Given the description of an element on the screen output the (x, y) to click on. 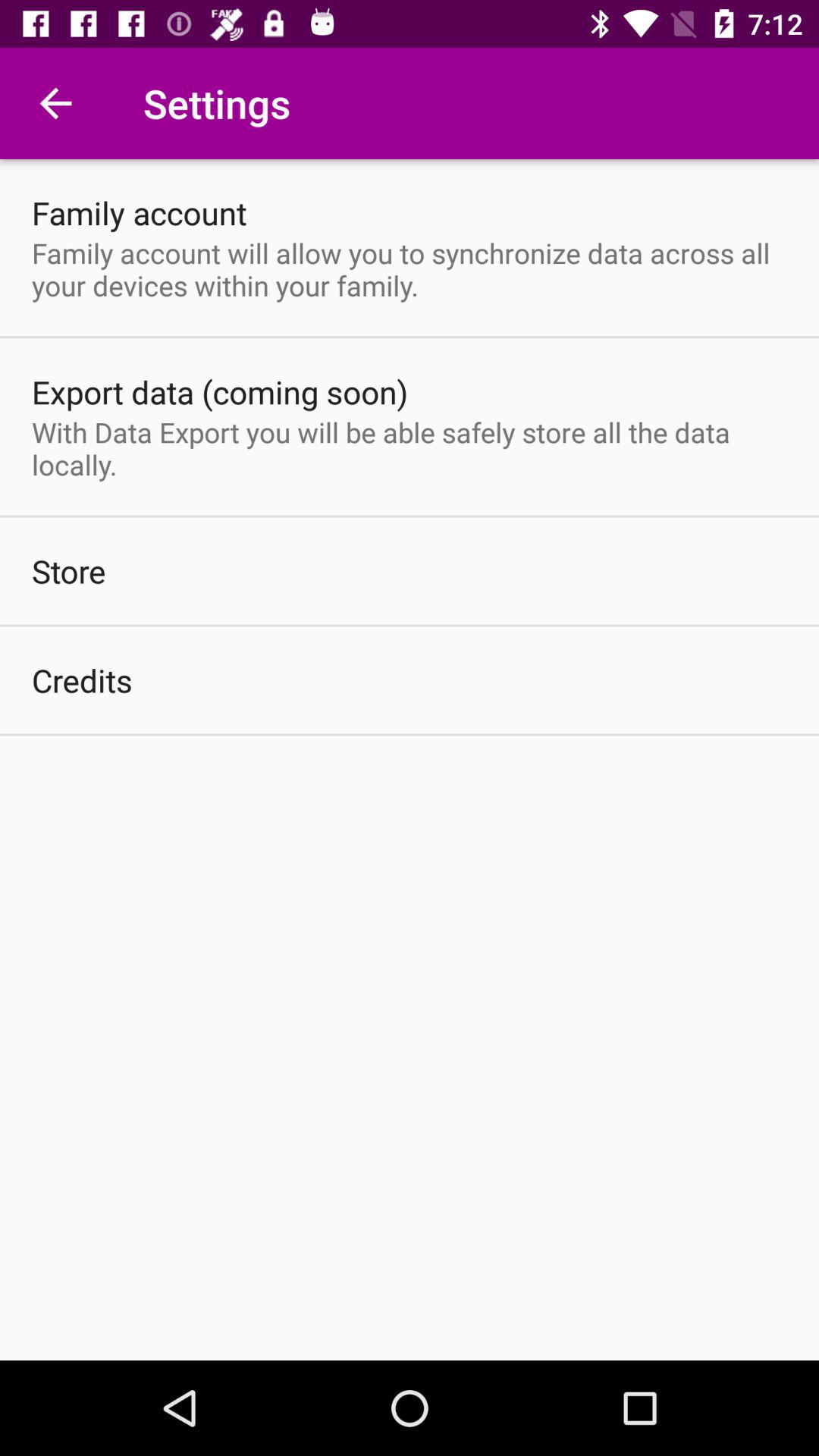
swipe until the credits icon (81, 679)
